Given the description of an element on the screen output the (x, y) to click on. 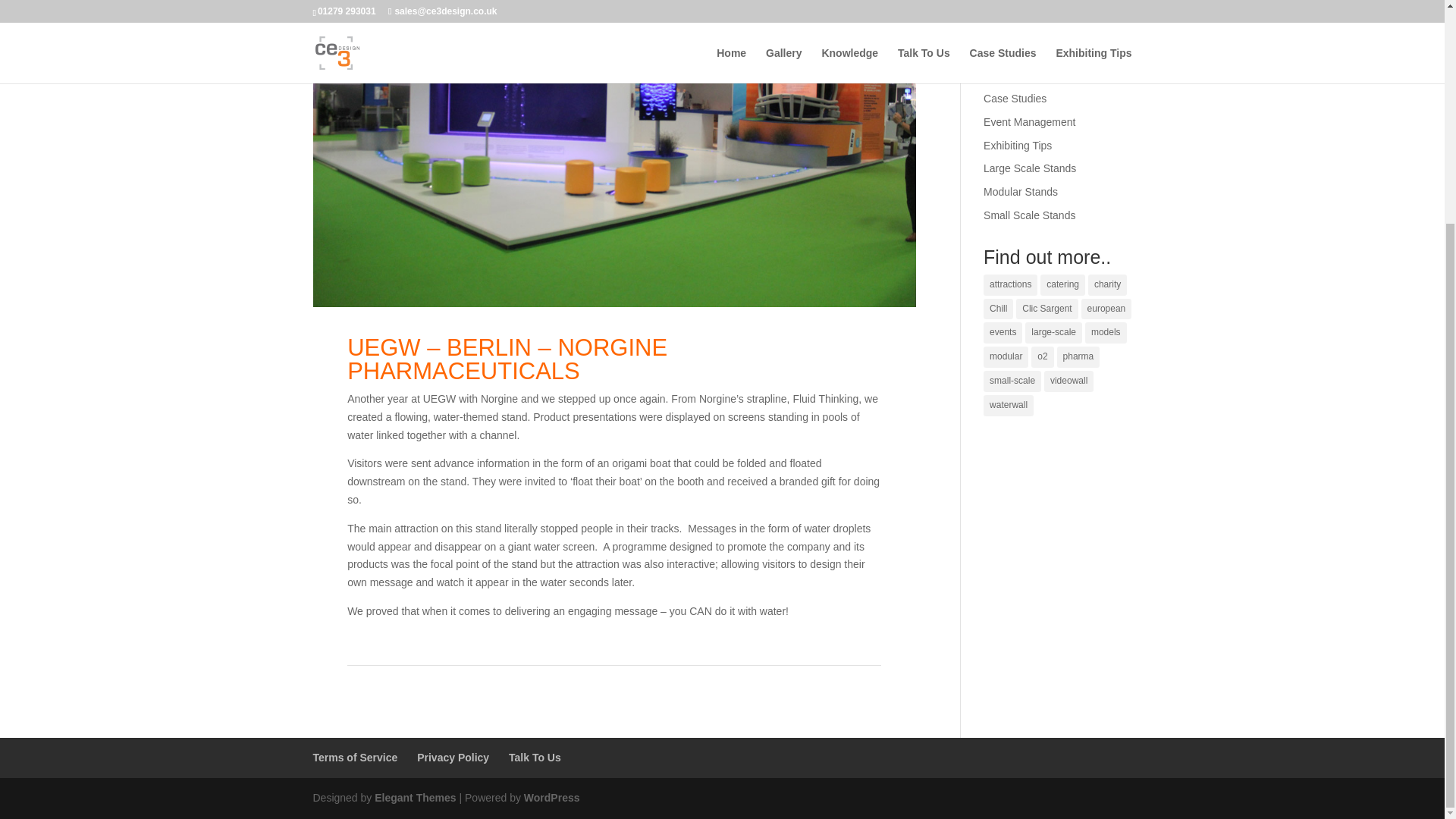
Chill (998, 309)
Case Studies (1015, 98)
catering (1062, 284)
Premium WordPress Themes (414, 797)
Modular Stands (1021, 191)
Event Management (1029, 121)
Large Scale Stands (1029, 168)
charity (1106, 284)
Scaled Up (1008, 11)
Clic Sargent (1046, 309)
